Given the description of an element on the screen output the (x, y) to click on. 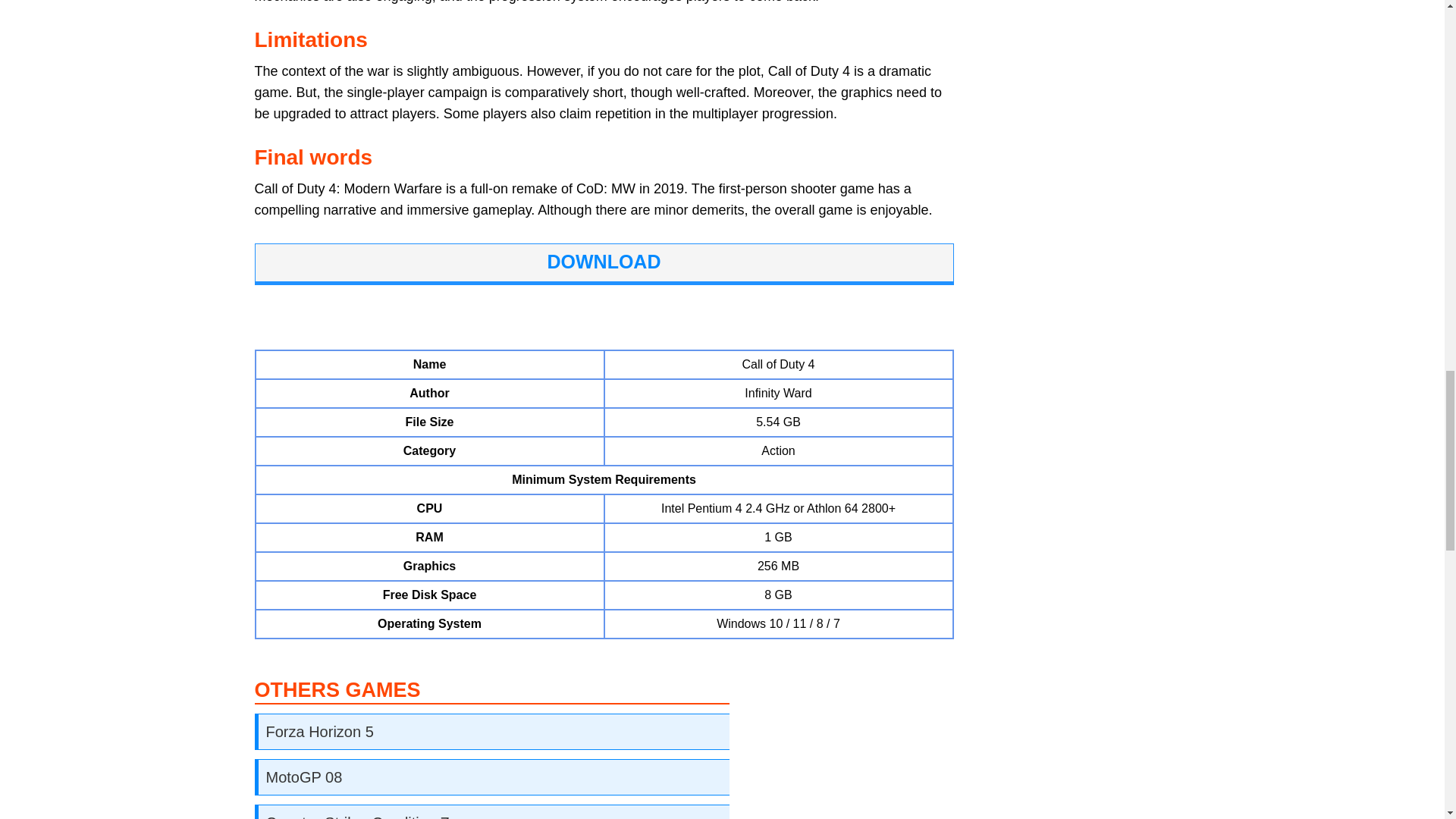
DOWNLOAD (604, 260)
Counter-Strike: Condition Zero (367, 816)
ADS Container (603, 309)
Forza Horizon 5 (318, 731)
MotoGP 08 (303, 777)
